Given the description of an element on the screen output the (x, y) to click on. 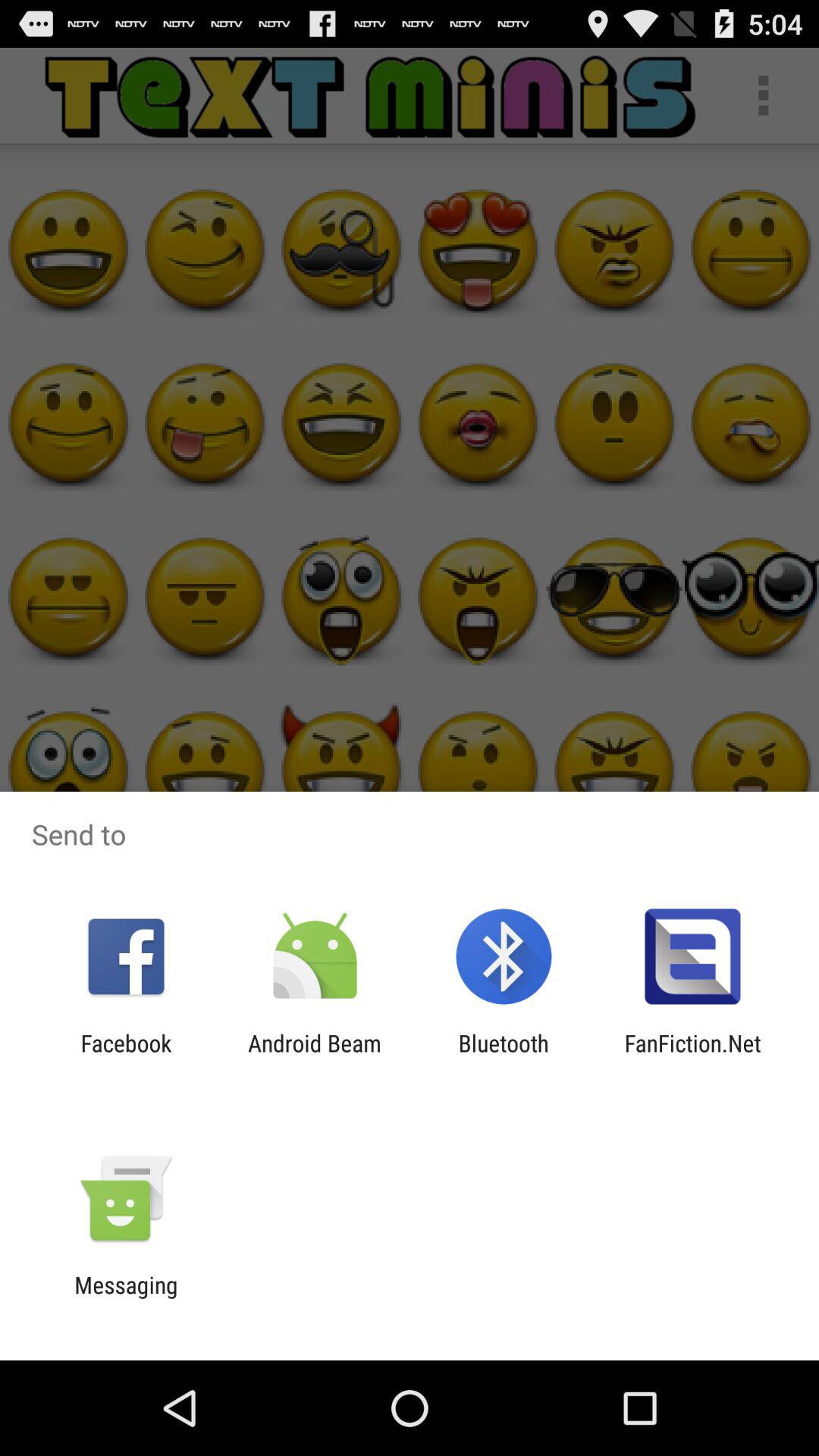
click item to the right of the android beam item (503, 1056)
